Given the description of an element on the screen output the (x, y) to click on. 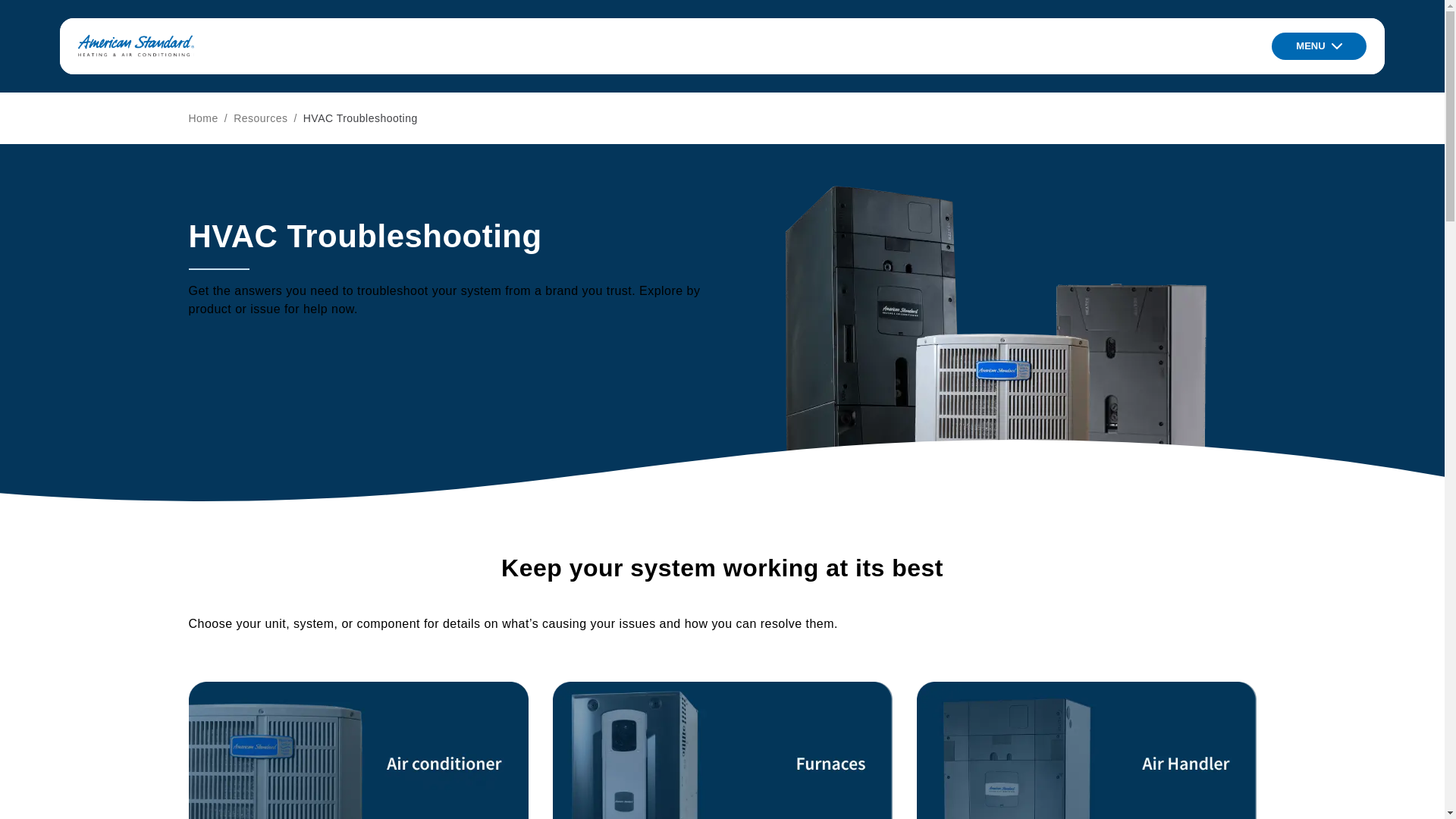
Resources (259, 118)
MENU (1318, 45)
Home (201, 118)
